Given the description of an element on the screen output the (x, y) to click on. 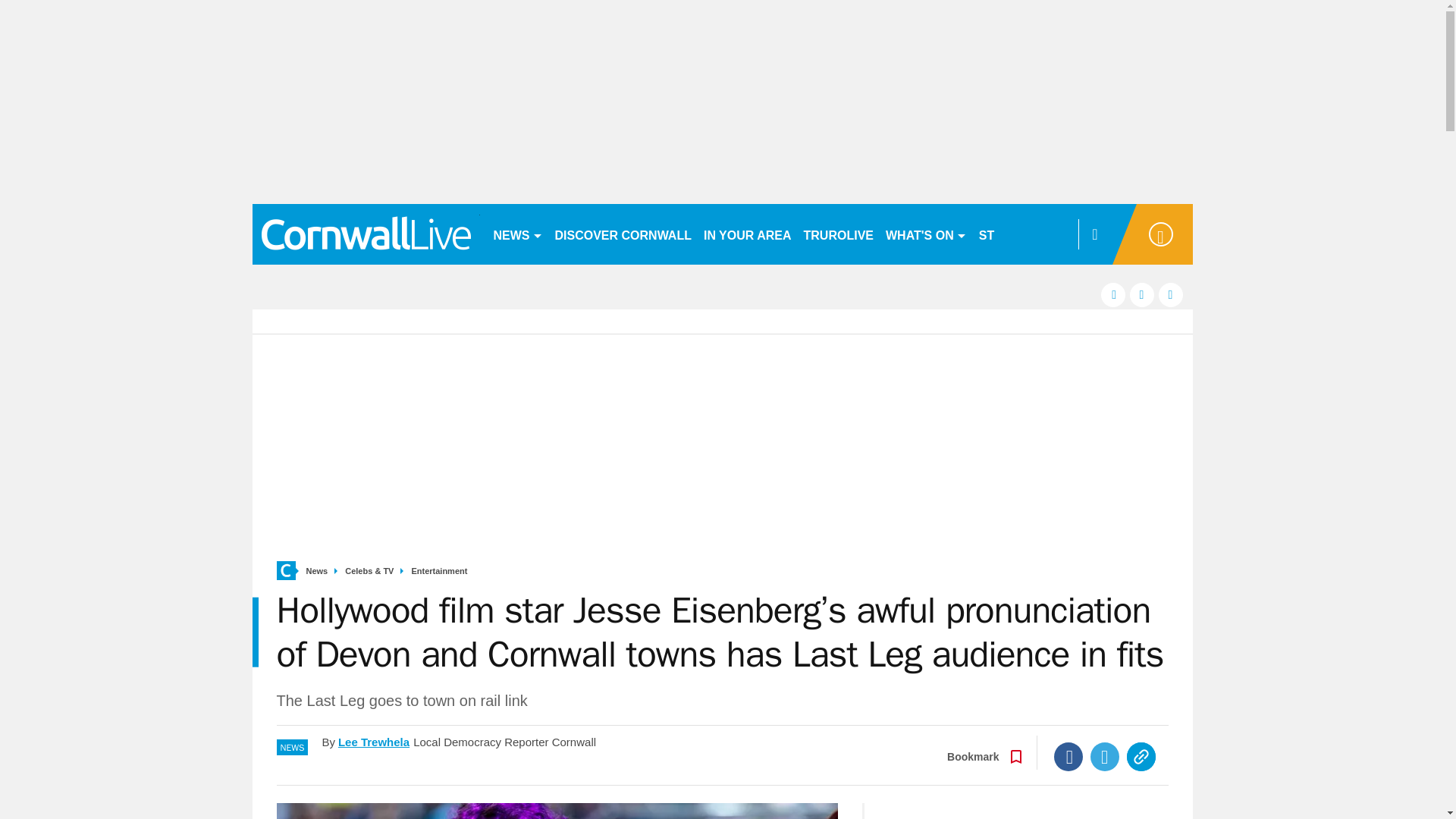
cornwalllive (365, 233)
IN YOUR AREA (747, 233)
twitter (1141, 294)
WHAT'S ON (925, 233)
facebook (1112, 294)
NEWS (517, 233)
Twitter (1104, 756)
TRUROLIVE (838, 233)
Facebook (1068, 756)
instagram (1170, 294)
